Given the description of an element on the screen output the (x, y) to click on. 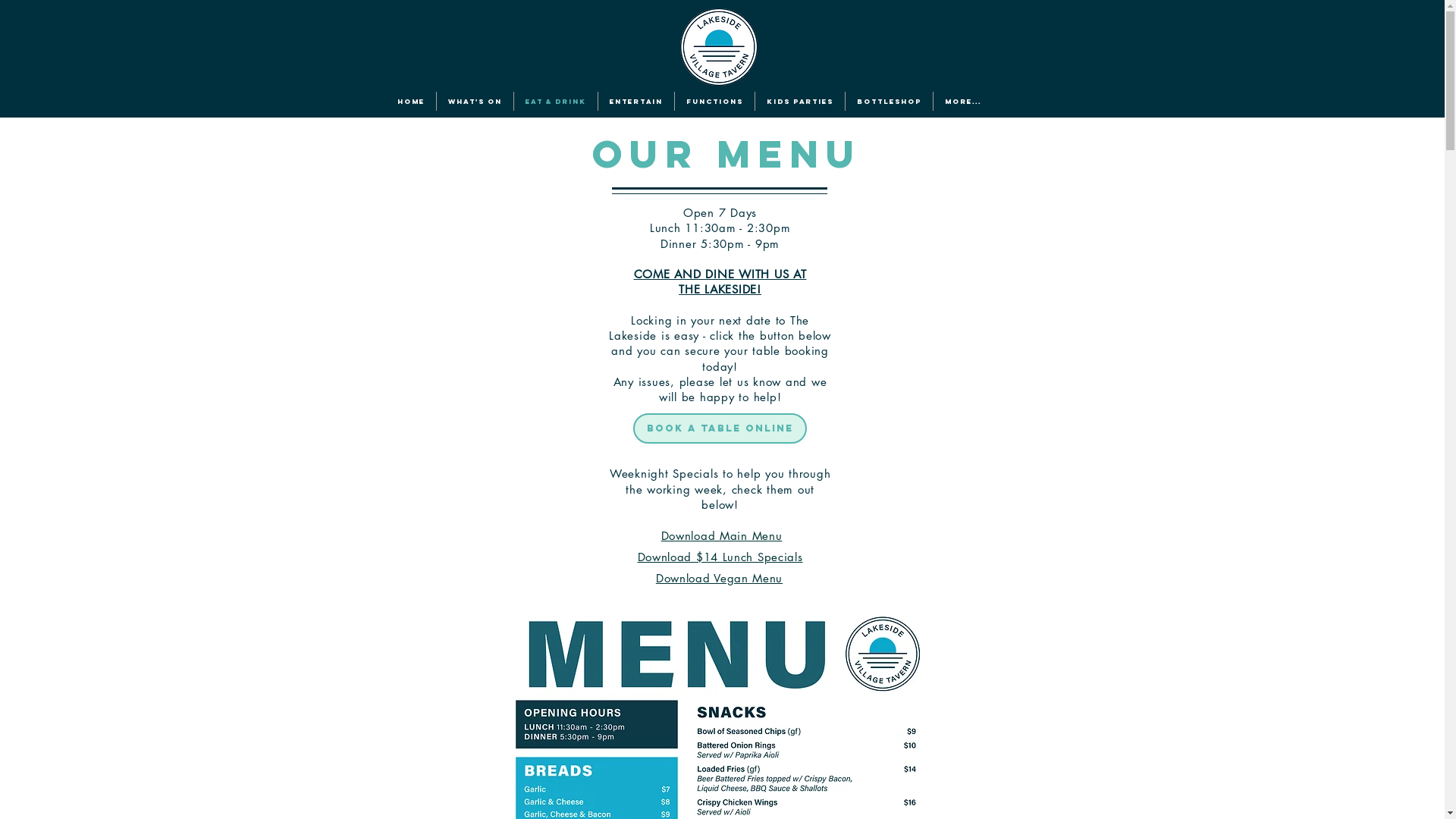
Restaurant Social Bar Element type: hover (1048, 100)
FUNCTIONS Element type: text (714, 100)
EAT & DRINK Element type: text (555, 100)
Download Vegan Menu Element type: text (718, 578)
Download $14 Lunch Specials Element type: text (719, 556)
ENTERTAIN Element type: text (636, 100)
HOME Element type: text (410, 100)
Download Main Menu Element type: text (721, 535)
KIDS PARTIES Element type: text (799, 100)
BOTTLESHOP Element type: text (888, 100)
WHAT'S ON Element type: text (474, 100)
Book a table online Element type: text (719, 428)
